Given the description of an element on the screen output the (x, y) to click on. 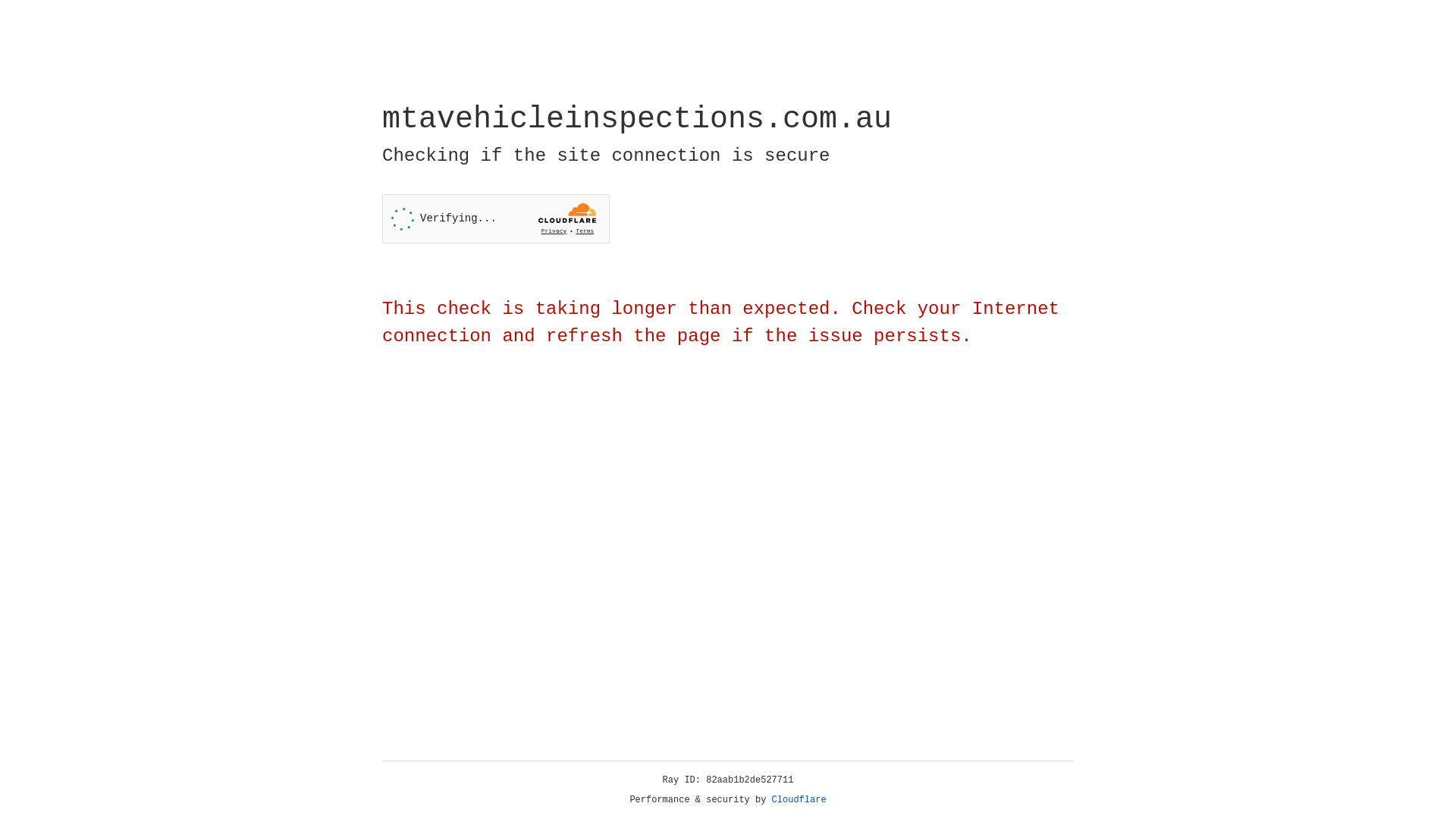
Cloudflare Element type: text (798, 799)
Widget containing a Cloudflare security challenge Element type: hover (495, 218)
